Given the description of an element on the screen output the (x, y) to click on. 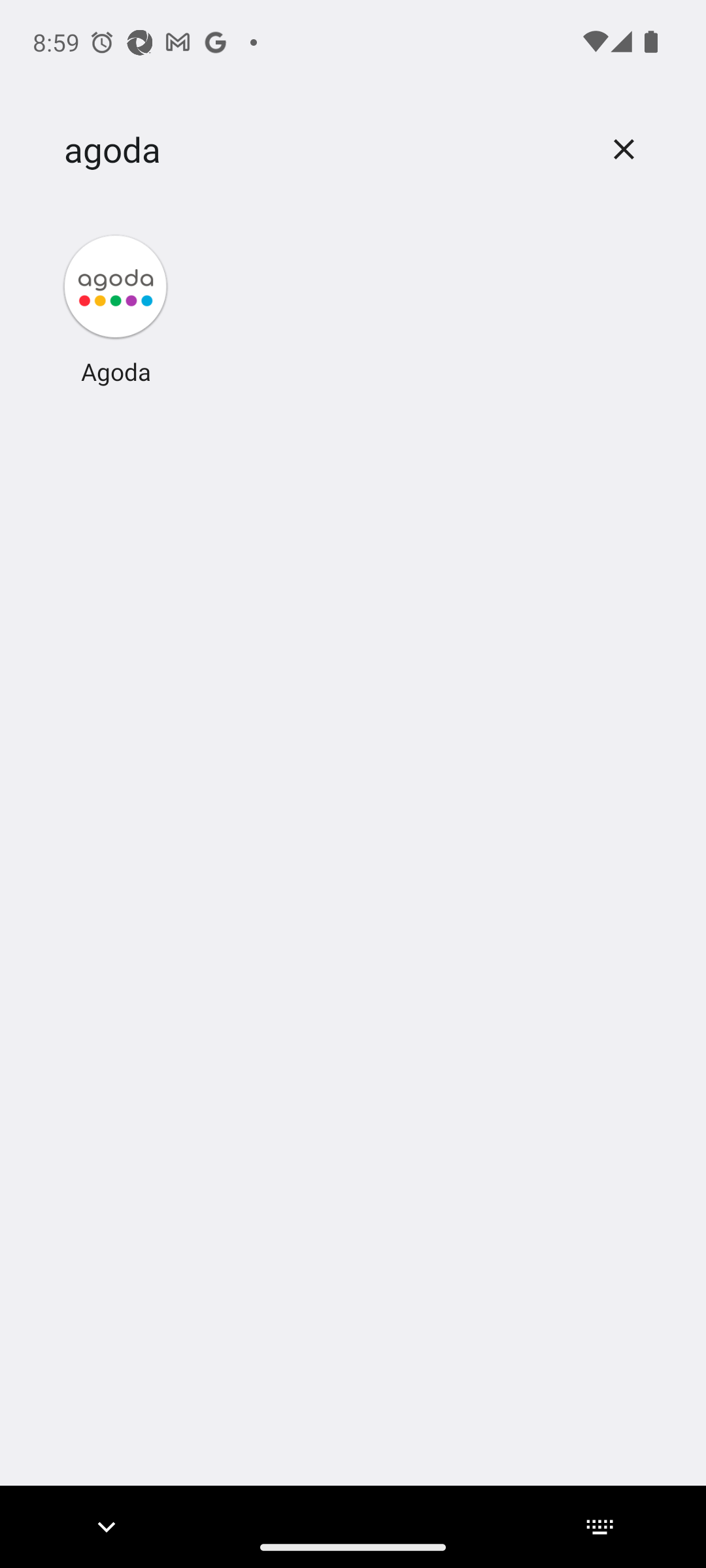
agoda (321, 149)
Clear search box (623, 149)
Agoda (115, 308)
